Given the description of an element on the screen output the (x, y) to click on. 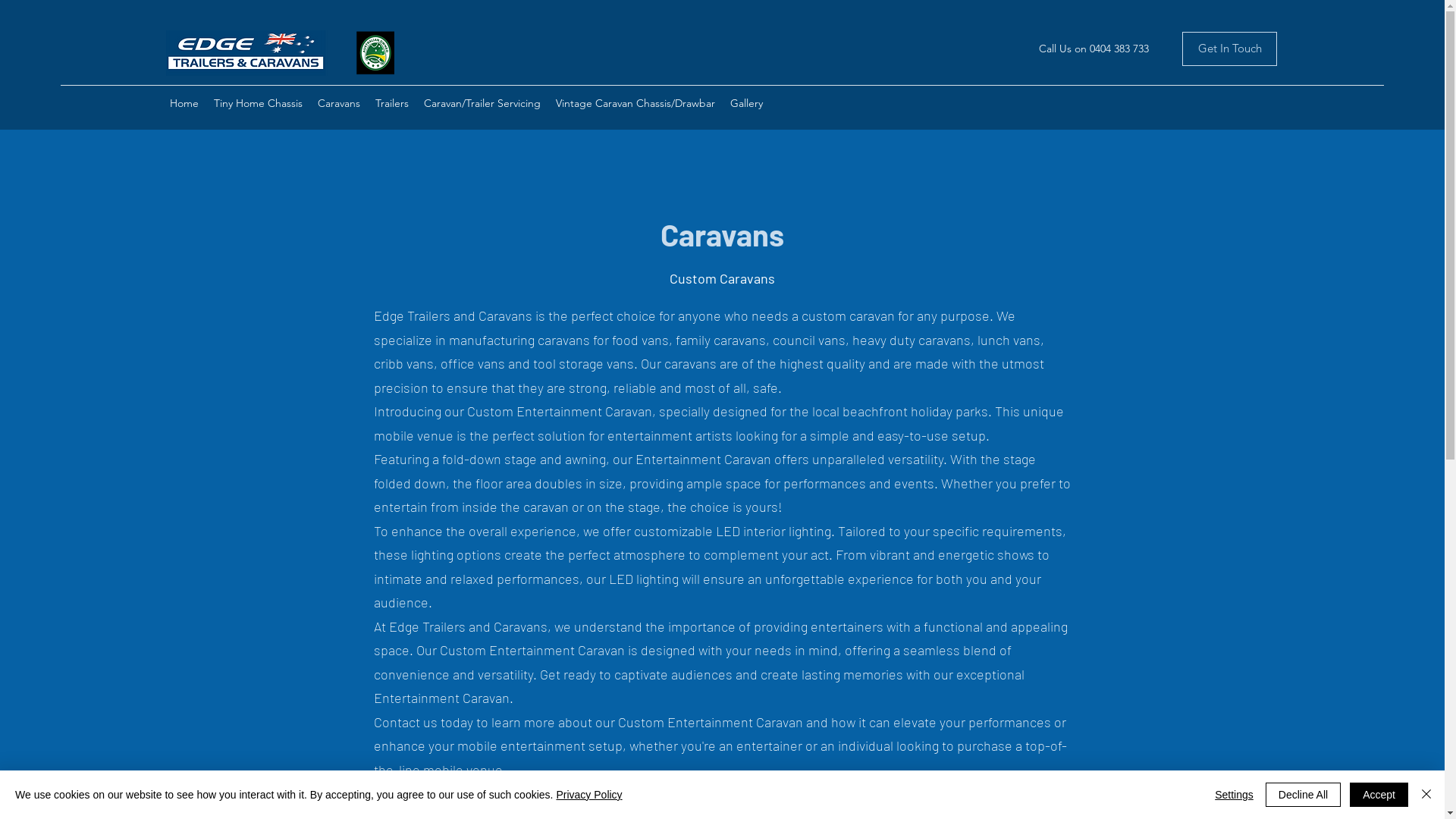
Decline All Element type: text (1302, 794)
Home Element type: text (184, 102)
Tiny Home Chassis Element type: text (258, 102)
Get In Touch Element type: text (1229, 48)
Vintage Caravan Chassis/Drawbar Element type: text (635, 102)
Caravan/Trailer Servicing Element type: text (482, 102)
Trailers Element type: text (391, 102)
Gallery Element type: text (746, 102)
Caravans Element type: text (338, 102)
Accept Element type: text (1378, 794)
Privacy Policy Element type: text (588, 794)
